Given the description of an element on the screen output the (x, y) to click on. 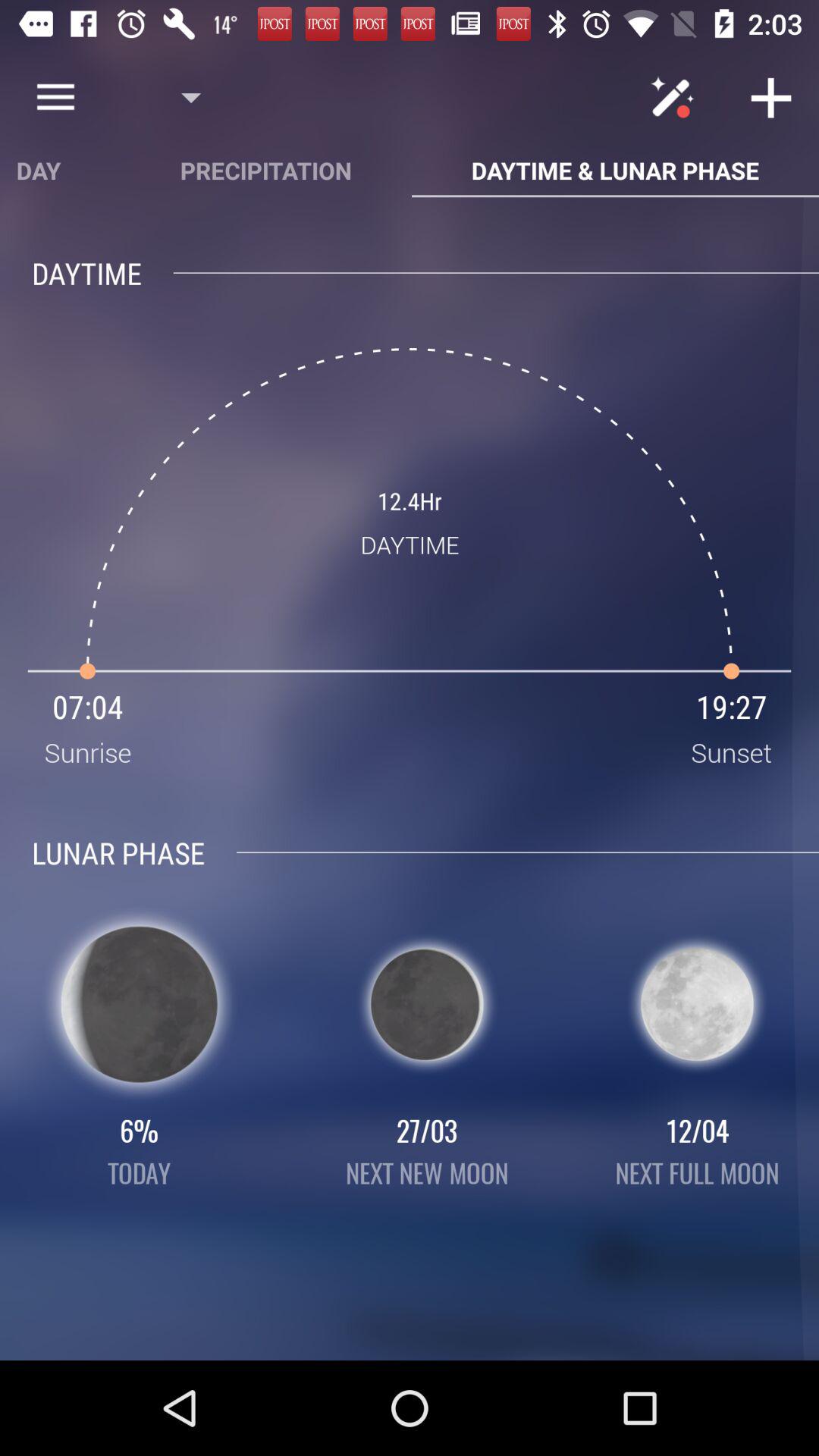
click the first moon under lunar phase (139, 1003)
select the icon which is above the text daytimelunar phase (677, 96)
go to  (771, 96)
click on the text precipitation (265, 170)
